Given the description of an element on the screen output the (x, y) to click on. 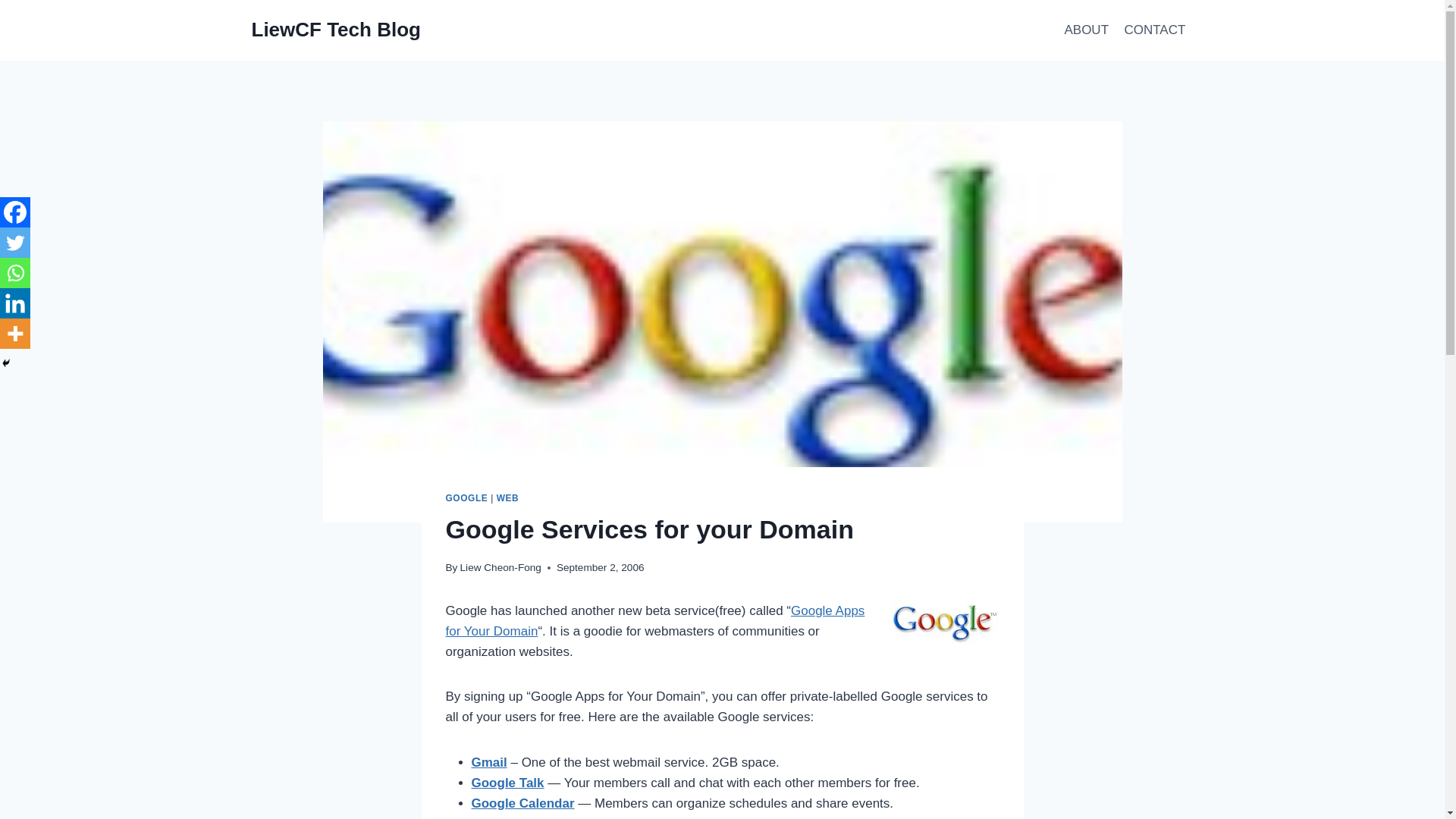
Google Page Creator (535, 817)
ABOUT (1086, 30)
Liew Cheon-Fong (500, 567)
More about LiewCF (1086, 30)
WEB (507, 498)
google logo (943, 622)
Google Apps for Your Domain (654, 620)
Google Calendar (523, 803)
Google Talk (507, 782)
CONTACT (1154, 30)
LiewCF Tech Blog (335, 29)
Gmail (488, 762)
GOOGLE (466, 498)
